Given the description of an element on the screen output the (x, y) to click on. 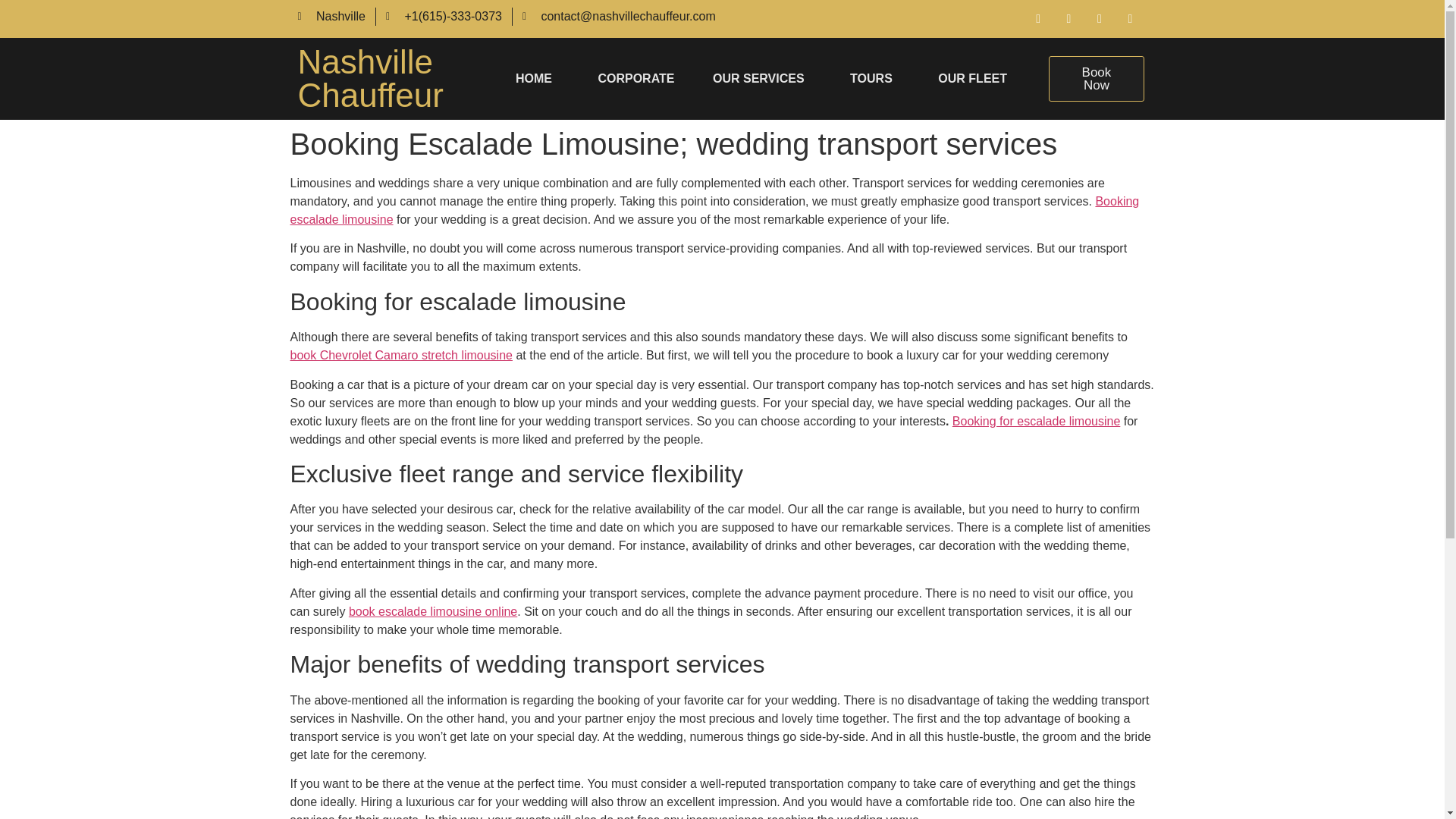
CORPORATE (636, 78)
OUR SERVICES (762, 78)
TOURS (874, 78)
HOME (369, 78)
OUR FLEET (537, 78)
